Given the description of an element on the screen output the (x, y) to click on. 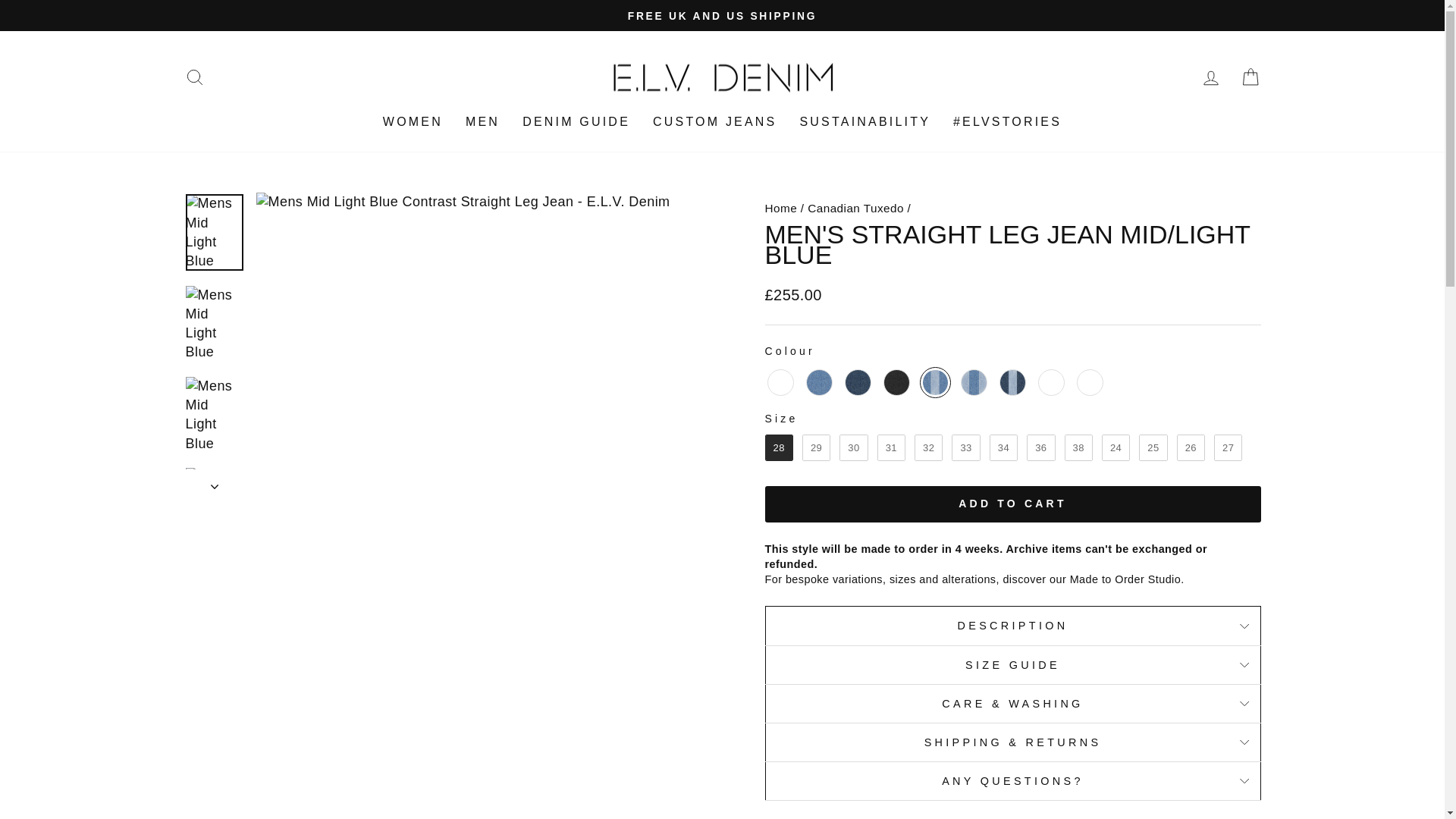
Back to Homepage (780, 207)
